Given the description of an element on the screen output the (x, y) to click on. 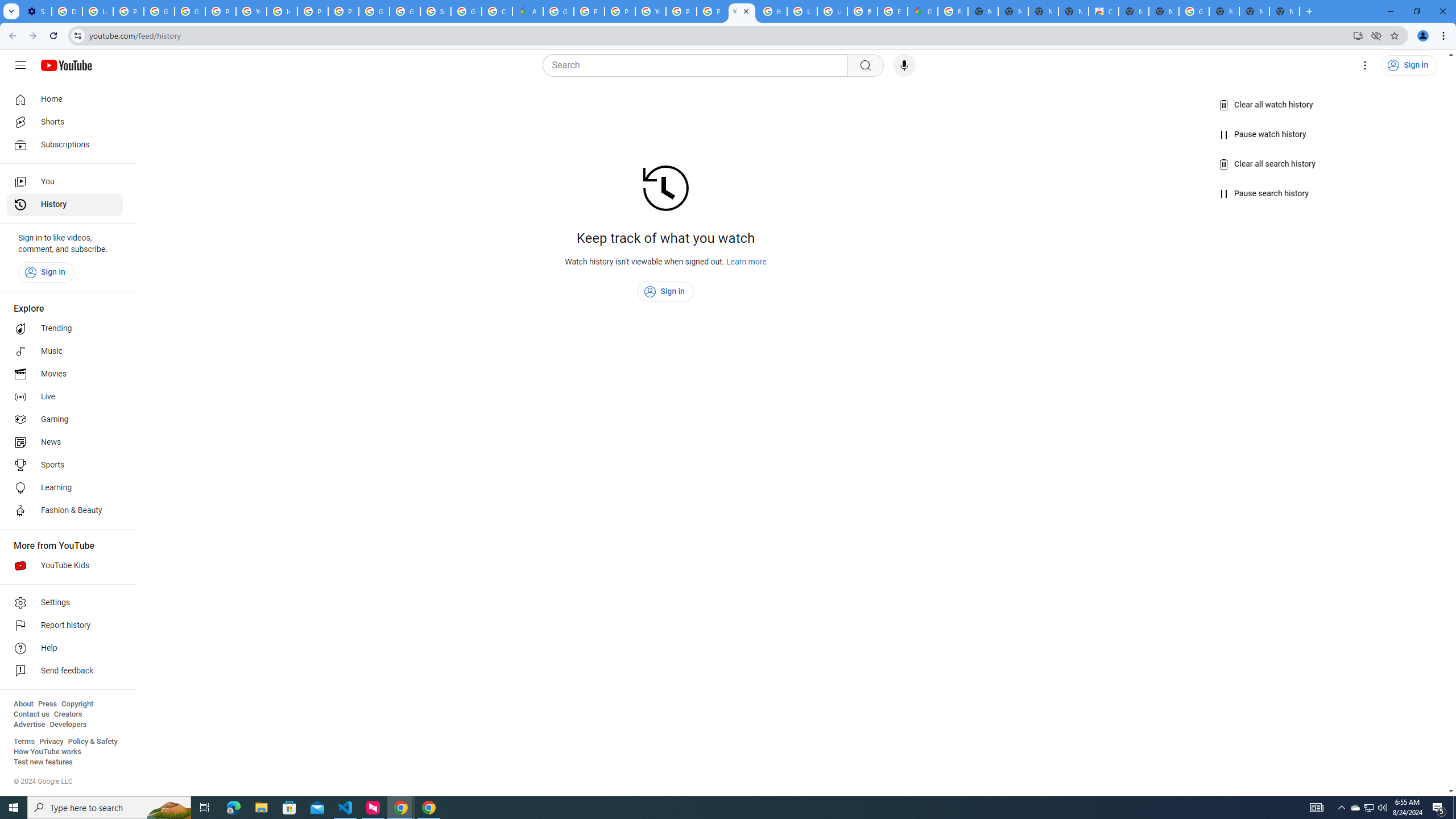
Privacy Checkup (711, 11)
Gaming (64, 419)
News (64, 441)
YouTube Kids (64, 565)
Trending (64, 328)
Test new features (42, 761)
Live (64, 396)
Creators (67, 714)
